Given the description of an element on the screen output the (x, y) to click on. 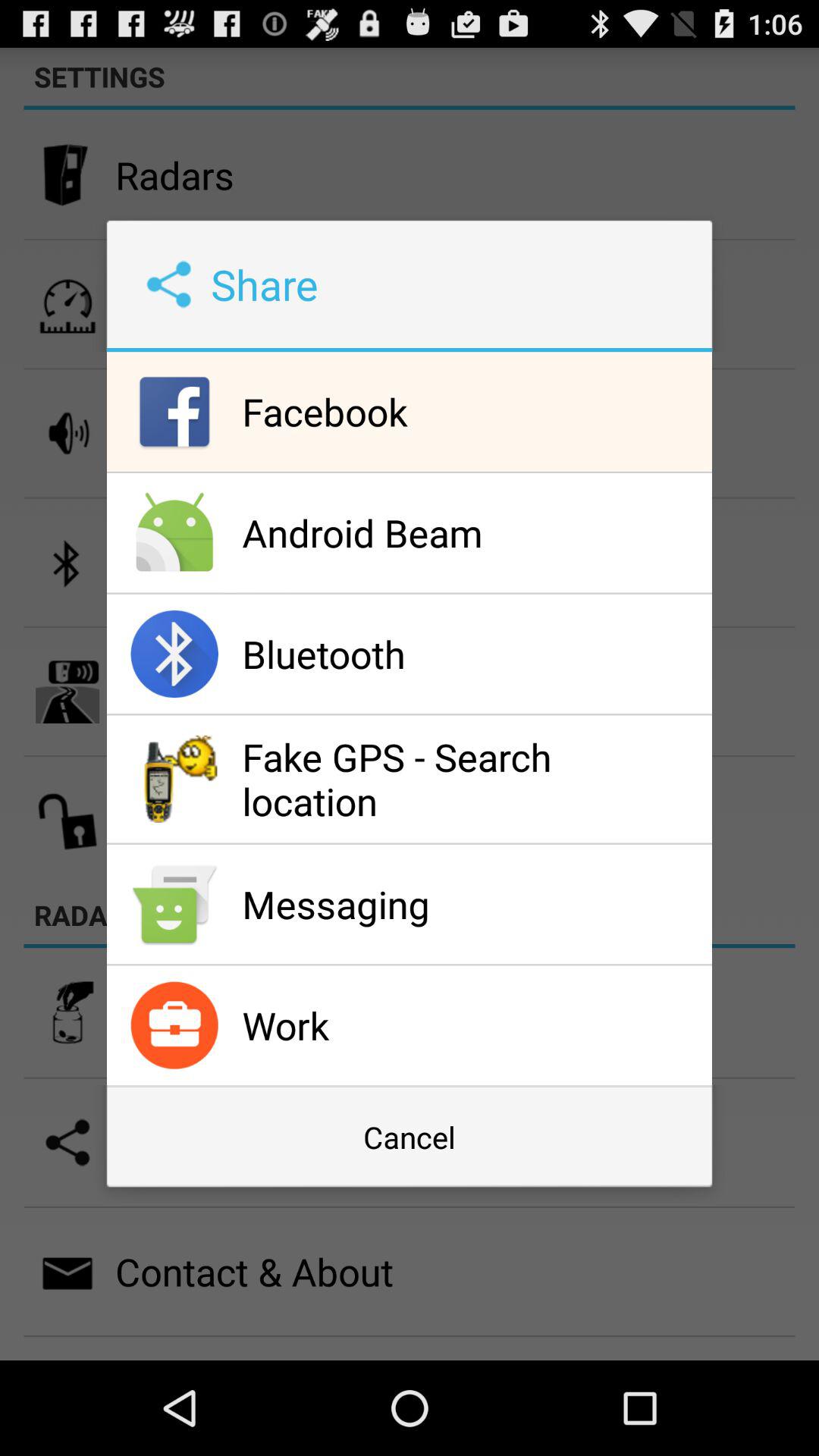
tap the work app (473, 1024)
